Given the description of an element on the screen output the (x, y) to click on. 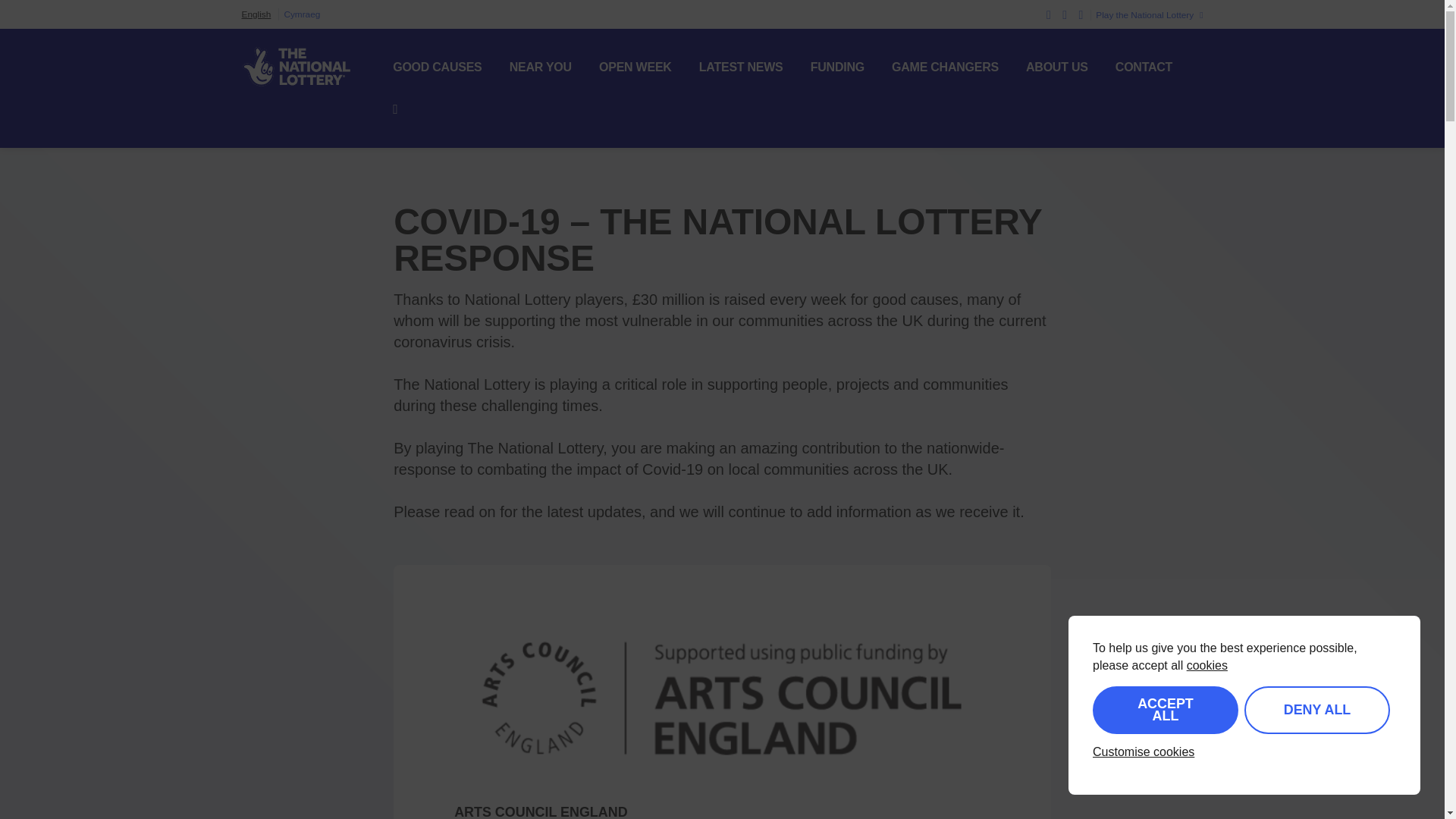
Instagram (1080, 13)
English (255, 14)
GAME CHANGERS (944, 66)
Twitter (1048, 13)
FUNDING (837, 66)
NEAR YOU (540, 66)
ACCEPT ALL (1166, 709)
OPEN WEEK (634, 66)
Cymraeg (301, 14)
Play the National Lottery (1147, 14)
DENY ALL (1317, 709)
ABOUT US (1056, 66)
Facebook (1064, 13)
LATEST NEWS (740, 66)
cookies (1206, 665)
